Given the description of an element on the screen output the (x, y) to click on. 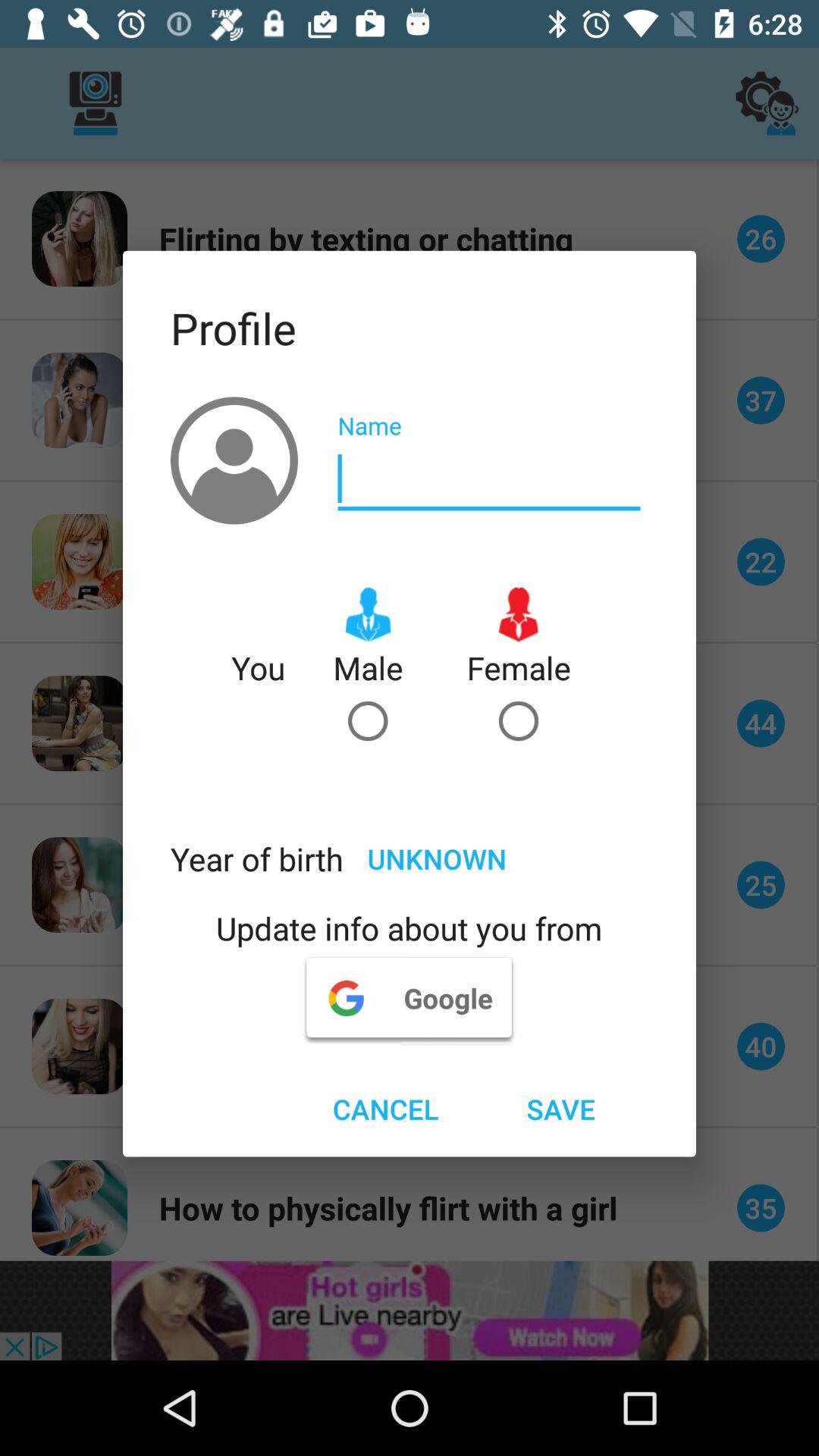
enter name (488, 479)
